Given the description of an element on the screen output the (x, y) to click on. 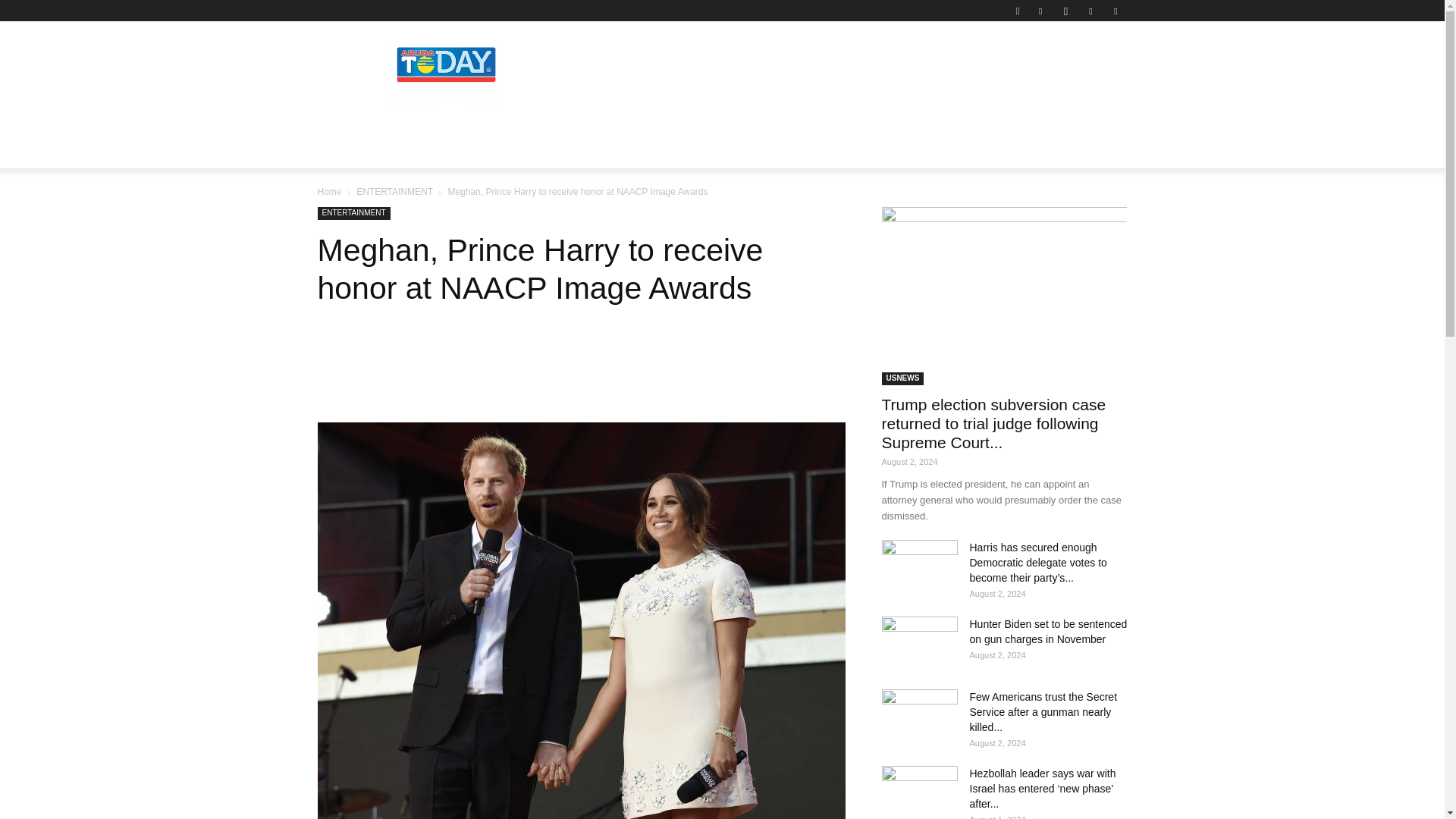
Youtube (1114, 10)
HONORINGS (517, 149)
VIDEO (779, 149)
Facebook (1040, 10)
Mail (1090, 10)
View all posts in ENTERTAINMENT (394, 191)
USNEWS (717, 149)
LOCAL (348, 149)
Search (1085, 64)
Instagram (1065, 10)
